Given the description of an element on the screen output the (x, y) to click on. 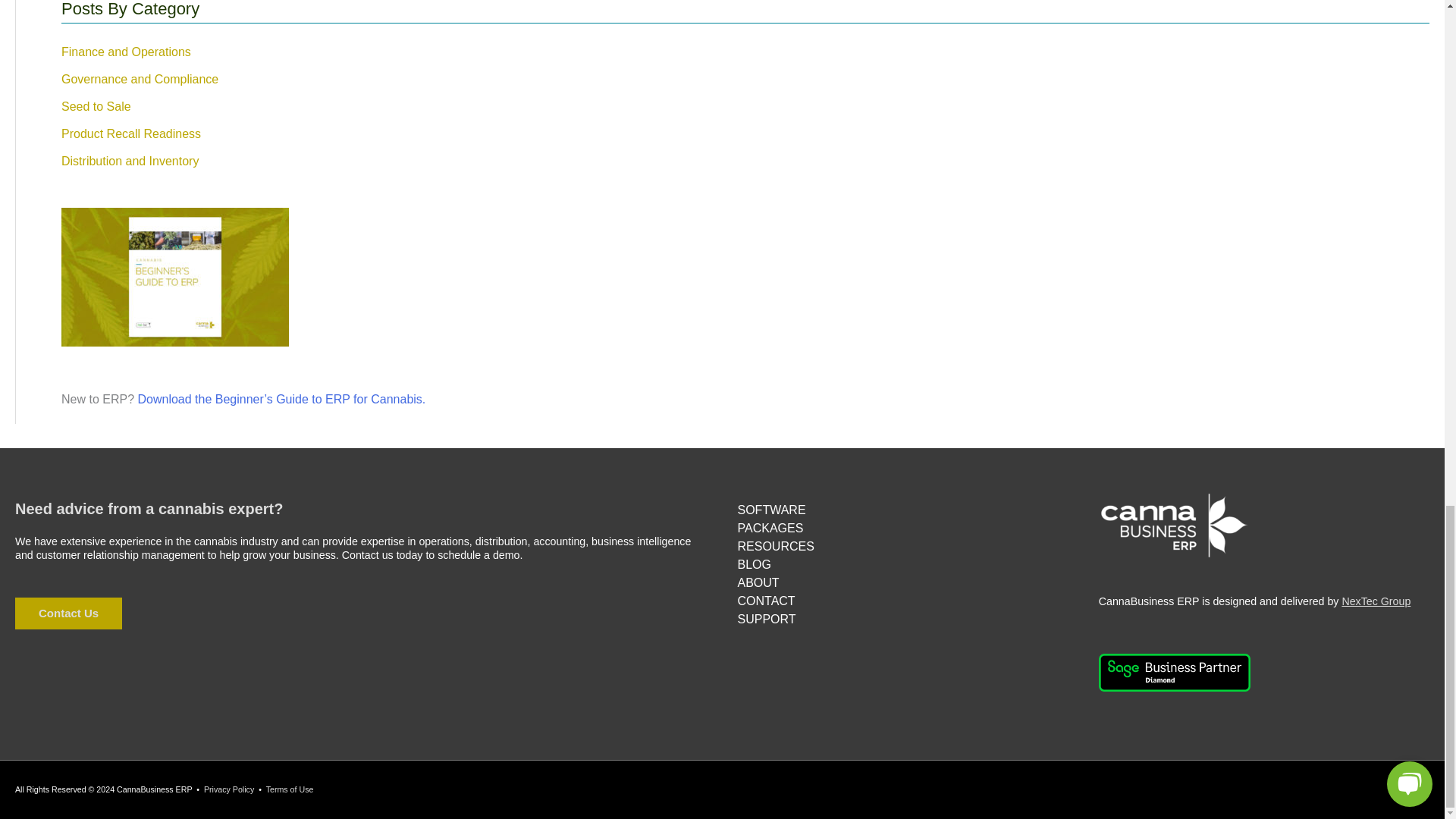
Governance and Compliance (139, 78)
Product Recall Readiness (130, 133)
Finance and Operations (125, 51)
Distribution and Inventory (129, 160)
Seed to Sale (96, 106)
